Given the description of an element on the screen output the (x, y) to click on. 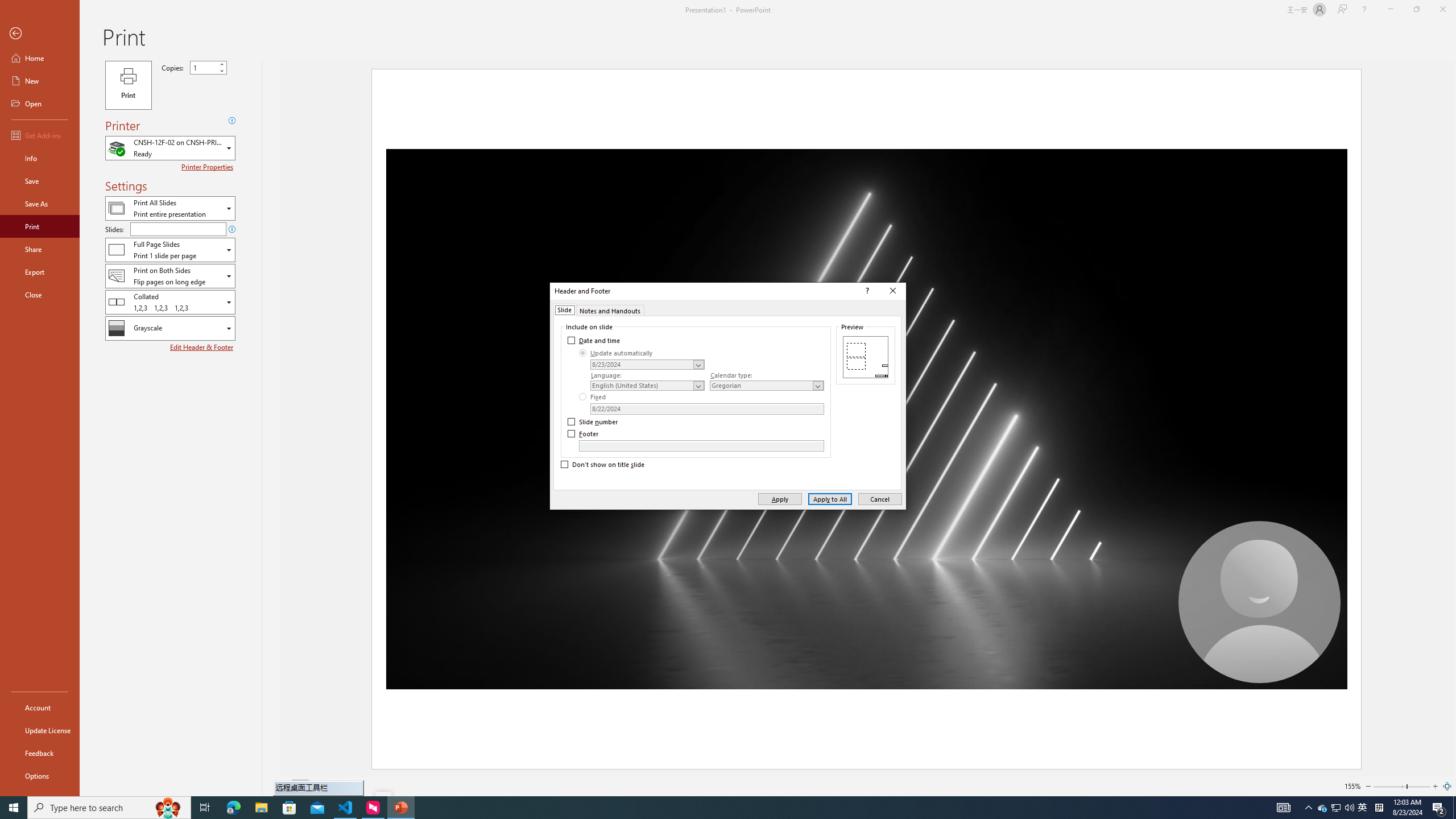
Cancel (879, 498)
Footer (701, 445)
Current Page (300, 786)
Save As (40, 203)
Print (127, 84)
Notes and Handouts (610, 309)
Apply (779, 498)
Copies (208, 67)
